Given the description of an element on the screen output the (x, y) to click on. 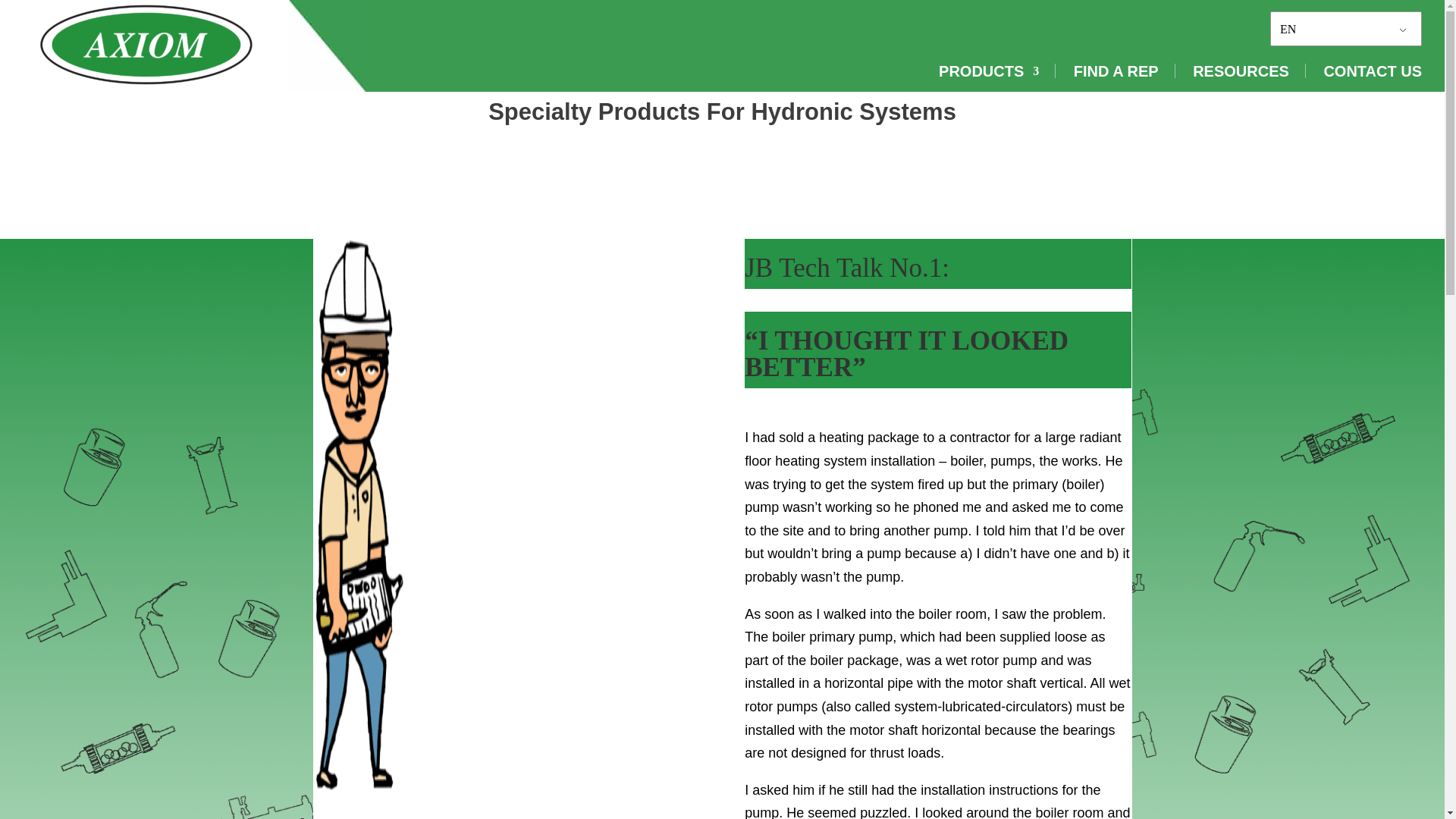
EN (1338, 29)
FIND A REP (1116, 71)
PRODUCTS (989, 71)
RESOURCES (1240, 71)
English (1338, 29)
CONTACT US (1372, 71)
